Given the description of an element on the screen output the (x, y) to click on. 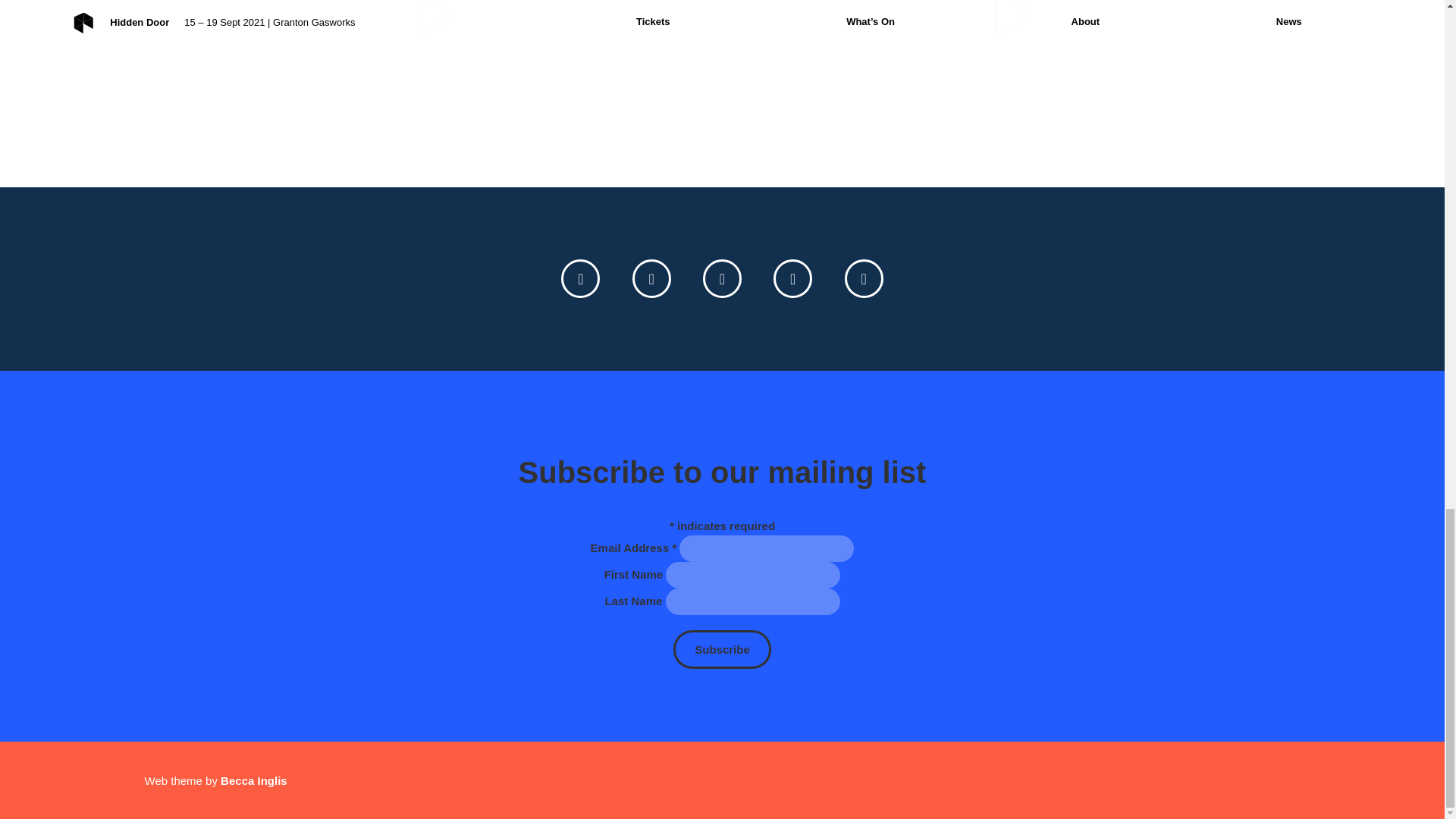
Hidden Door 2023 kicks off in exactly one week! O (144, 79)
soundcloud icon (863, 278)
Becca Inglis (253, 780)
Subscribe (721, 649)
Subscribe (721, 649)
facebook icon (651, 278)
instagram icon (792, 278)
twitter icon (579, 278)
8 DAYS UNTIL HIDDEN DOOR FESTIVAL! Our hand-built (722, 79)
youtube icon (722, 278)
